Given the description of an element on the screen output the (x, y) to click on. 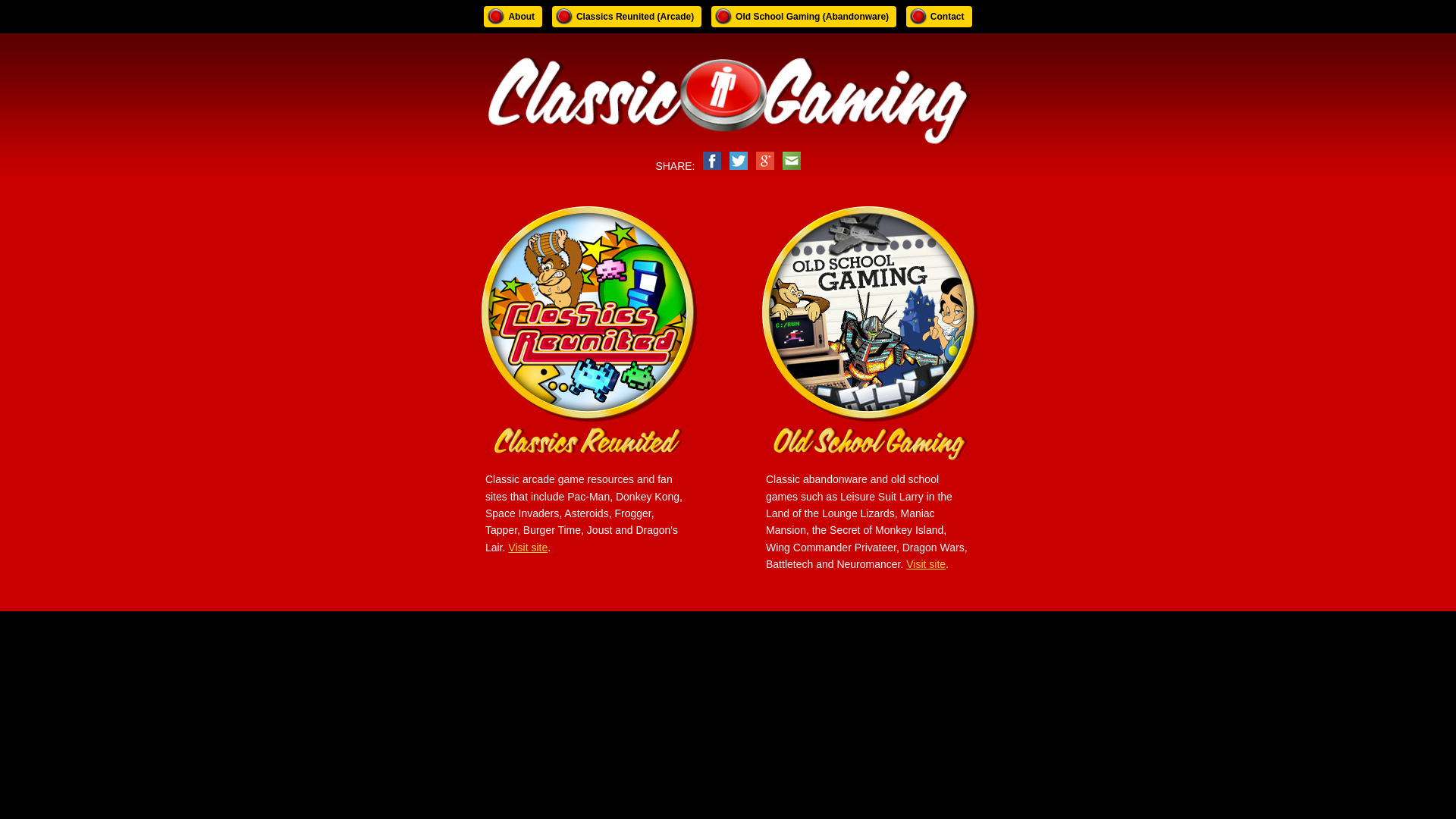
Visit site Element type: text (527, 547)
Contact Element type: text (939, 16)
About Element type: text (512, 16)
Old School Gaming (Abandonware) Element type: text (803, 16)
Classics Reunited (Arcade) Element type: text (626, 16)
Visit site Element type: text (925, 564)
